Given the description of an element on the screen output the (x, y) to click on. 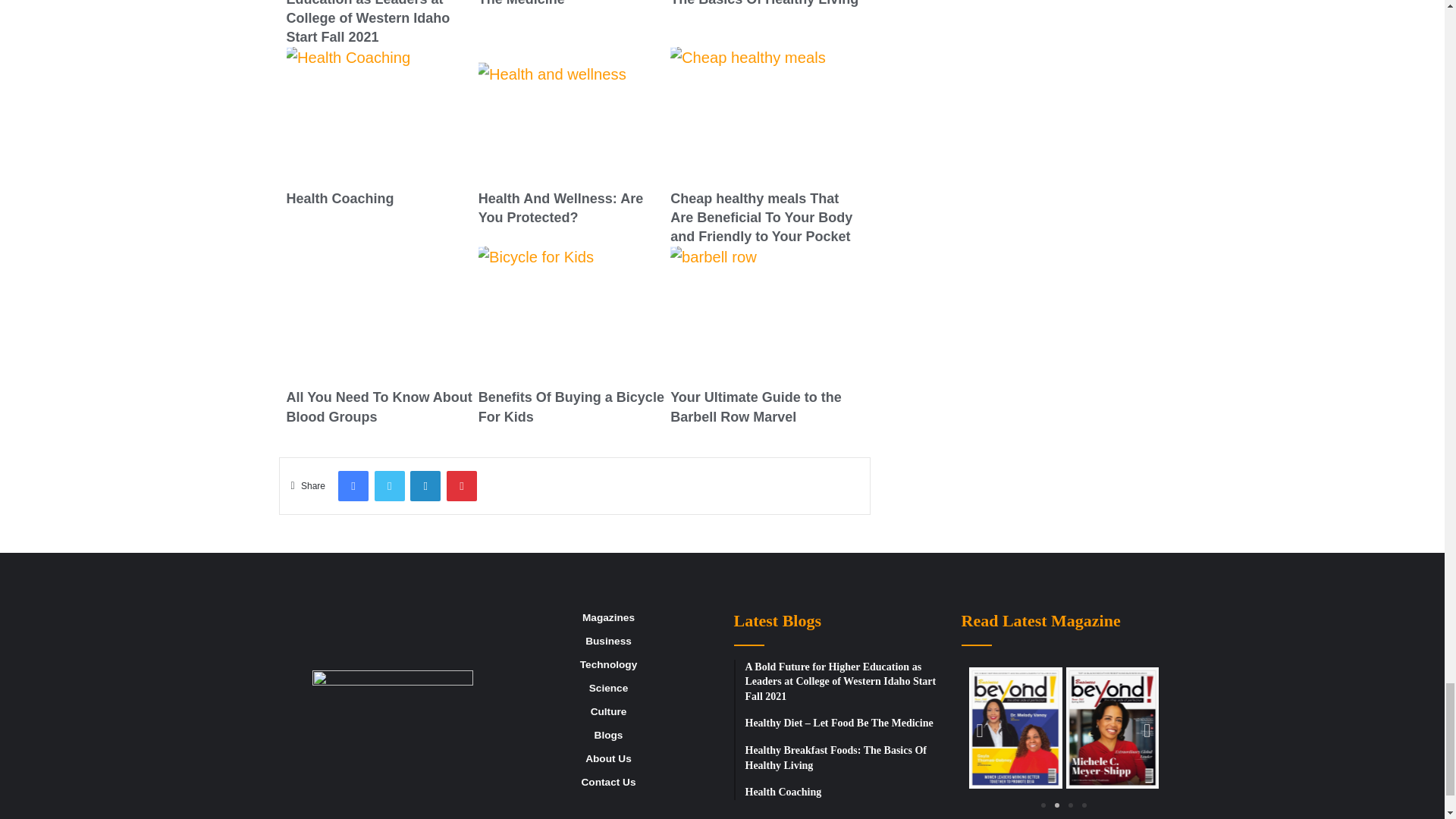
Facebook (352, 485)
Twitter (389, 485)
LinkedIn (425, 485)
Pinterest (461, 485)
